Given the description of an element on the screen output the (x, y) to click on. 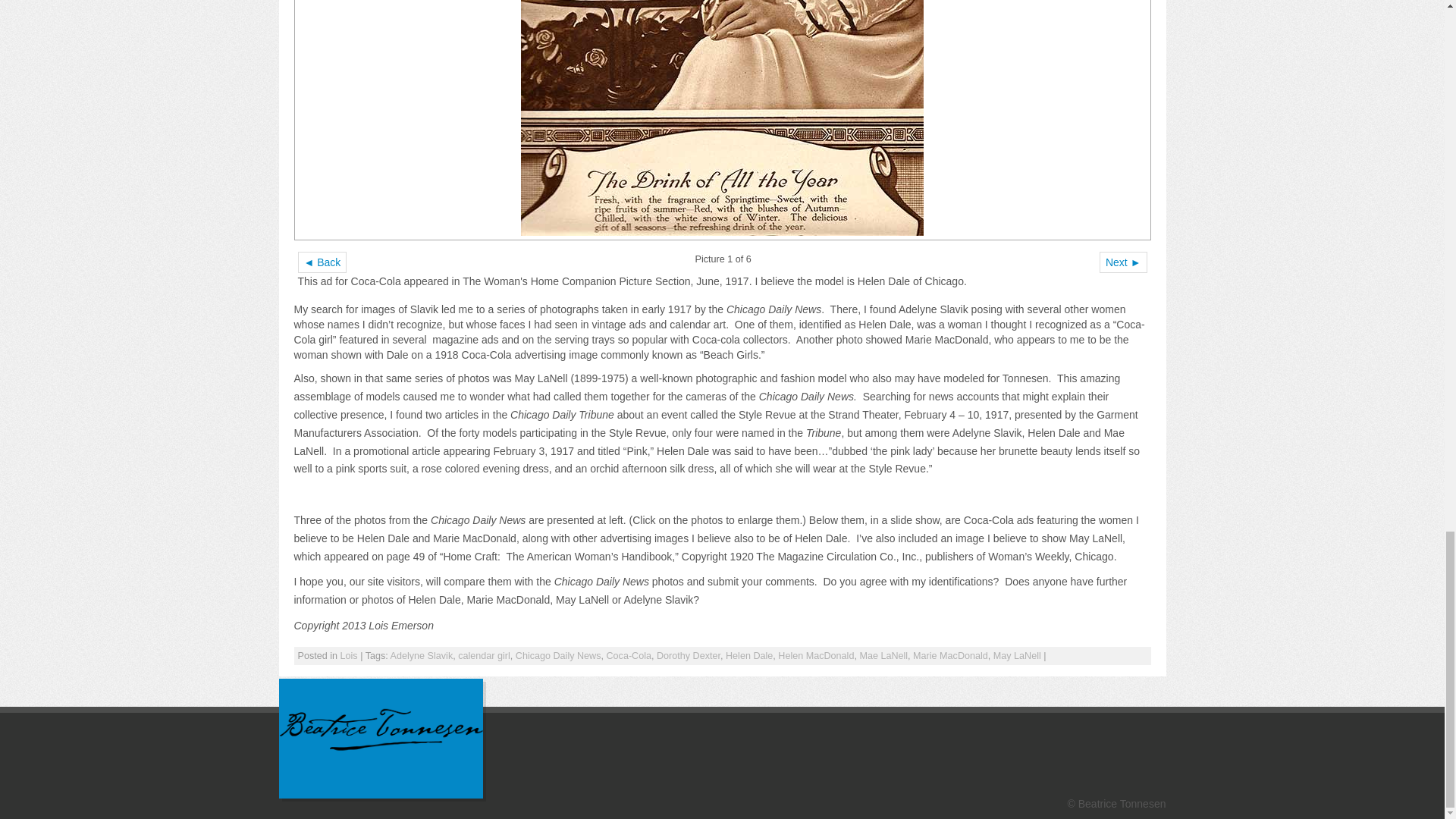
Dorothy Dexter (688, 655)
Coca-Cola (627, 655)
Adelyne Slavik (421, 655)
May LaNell (1016, 655)
calendar girl (484, 655)
Helen Dale (749, 655)
Mae LaNell (883, 655)
Lois (349, 655)
Marie MacDonald (950, 655)
Chicago Daily News (558, 655)
Beatrice Tonnesen (381, 729)
Helen MacDonald (815, 655)
